Given the description of an element on the screen output the (x, y) to click on. 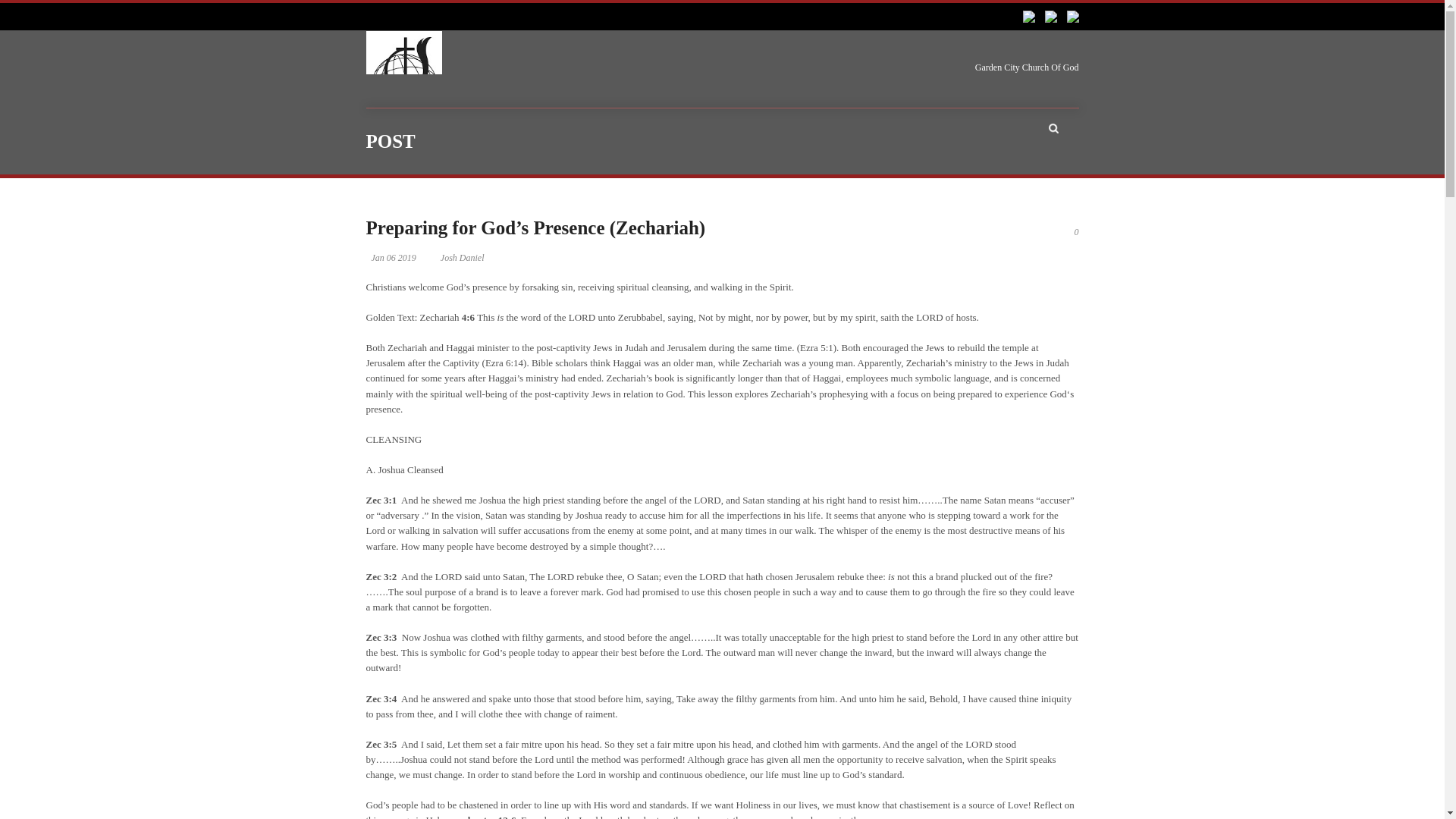
Josh Daniel (462, 257)
Posts by Josh Daniel (462, 257)
Jan 06 2019 (393, 257)
